Given the description of an element on the screen output the (x, y) to click on. 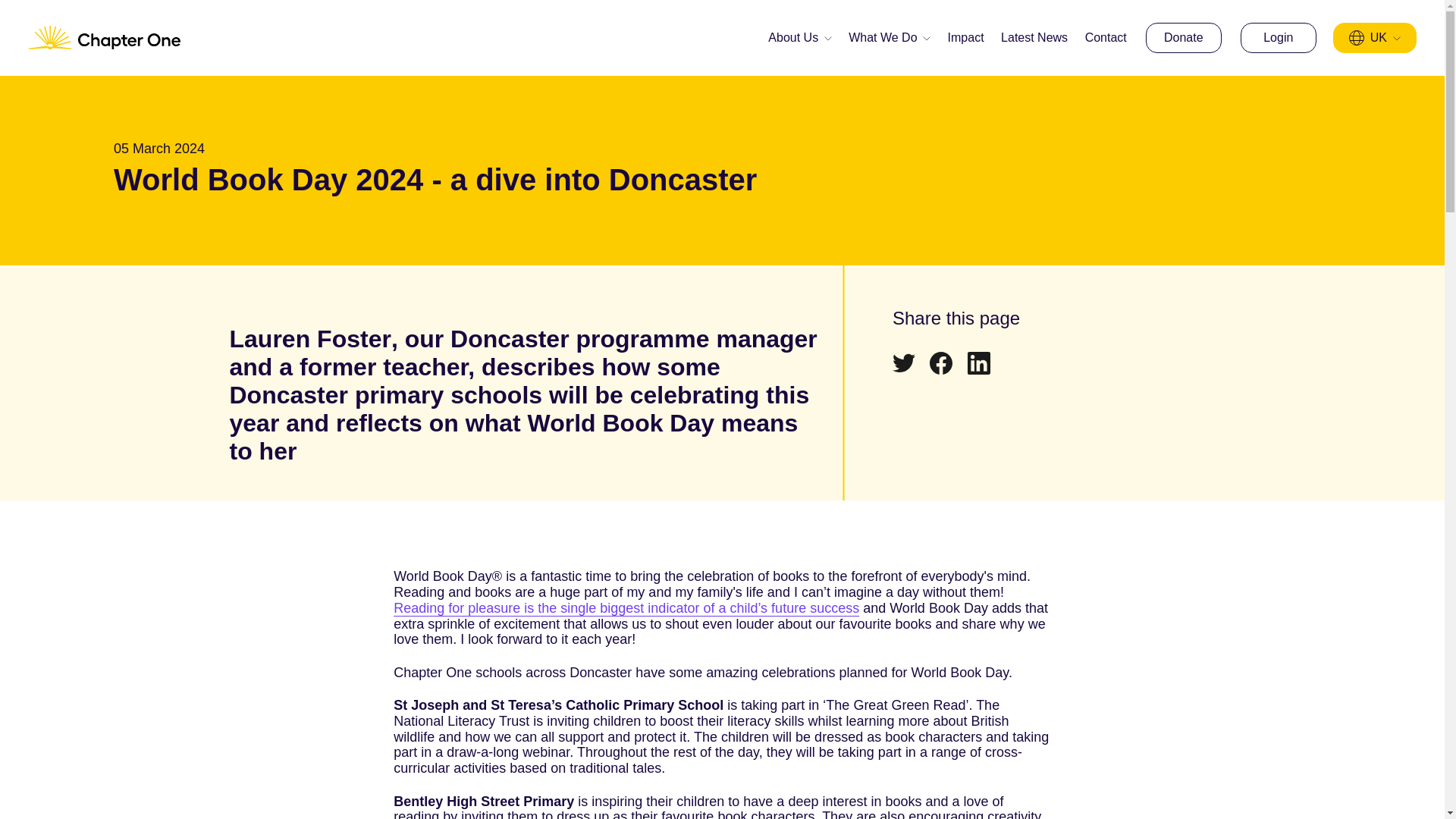
What We Do (889, 37)
Impact (965, 37)
Latest News (1034, 37)
Contact (1105, 37)
About Us (799, 37)
UK (1374, 37)
Donate (1183, 38)
Login (1277, 38)
